Given the description of an element on the screen output the (x, y) to click on. 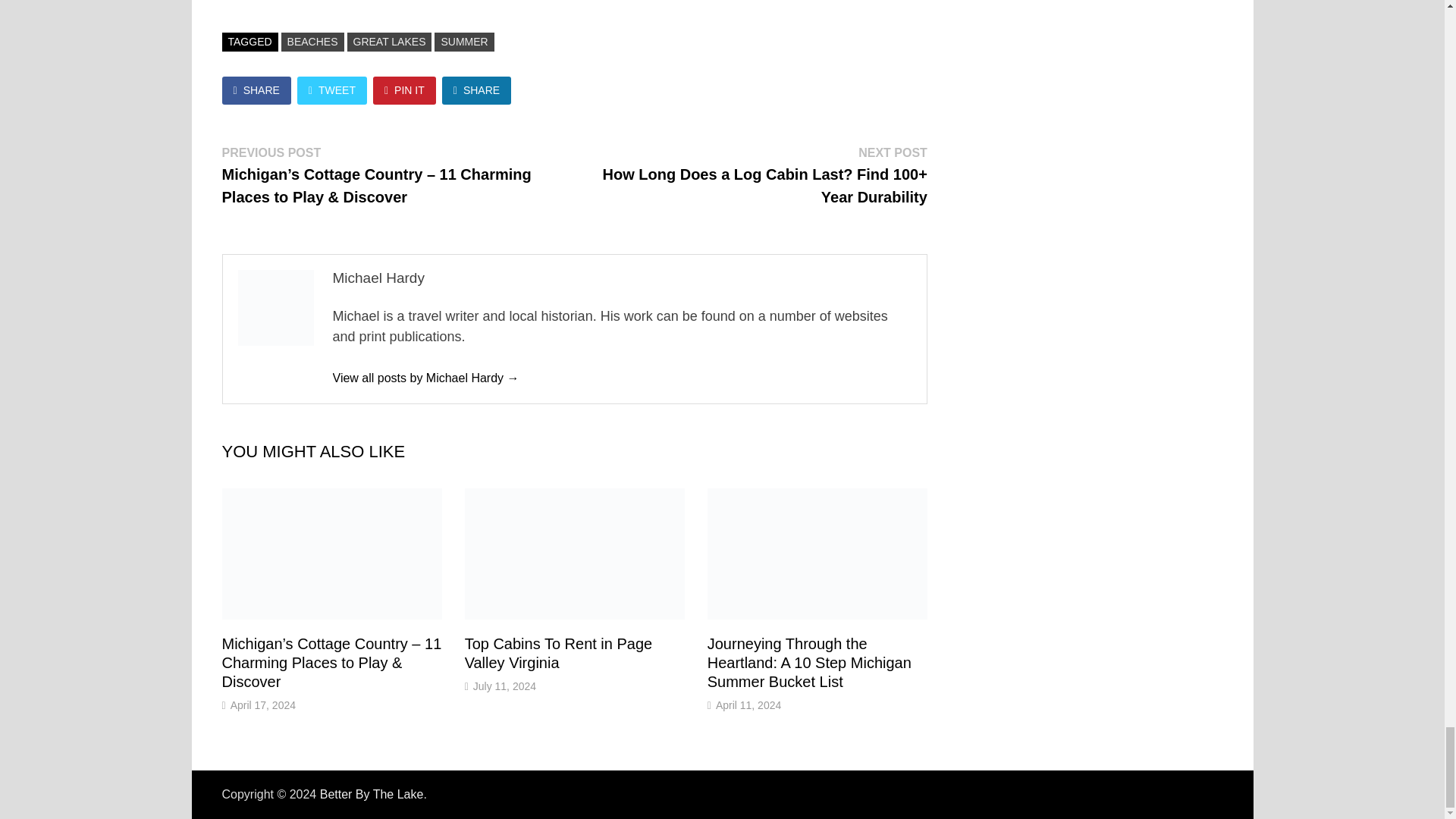
Michael Hardy (424, 377)
Better By The Lake (371, 793)
Top Cabins To Rent in Page Valley Virginia (558, 652)
